Given the description of an element on the screen output the (x, y) to click on. 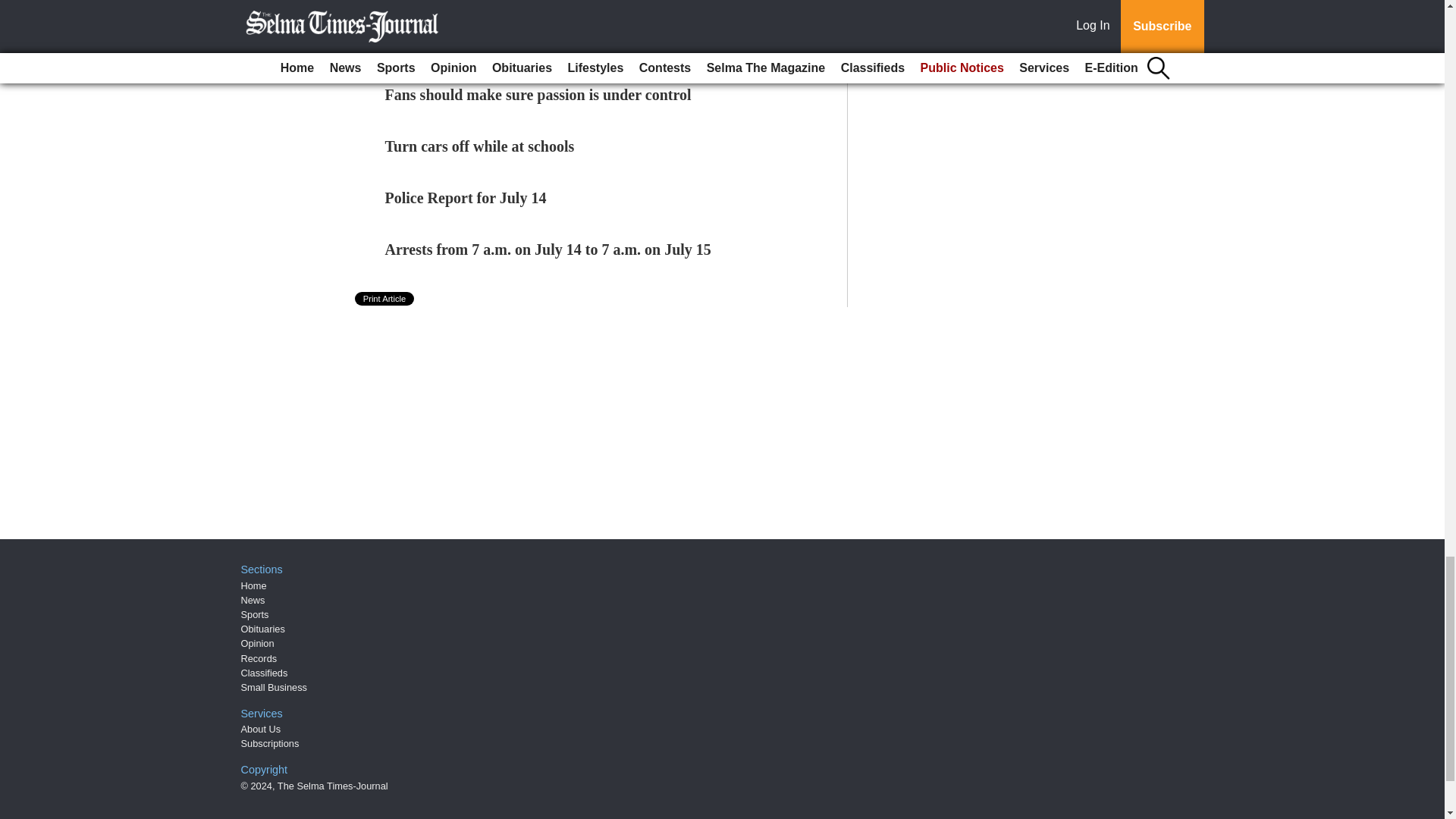
Obituaries (263, 628)
Sports (255, 614)
Home (253, 585)
Arrests from 7 a.m. on July 14 to 7 a.m. on July 15 (548, 248)
Fans should make sure passion is under control (538, 94)
Police Report for July 14 (466, 197)
Print Article (384, 298)
Records (259, 658)
Opinion (258, 643)
Turn cars off while at schools (480, 146)
Classifieds (264, 672)
News (252, 600)
Arrests from 7 a.m. on July 14 to 7 a.m. on July 15 (548, 248)
Police Report for July 14 (466, 197)
Fans should make sure passion is under control (538, 94)
